Given the description of an element on the screen output the (x, y) to click on. 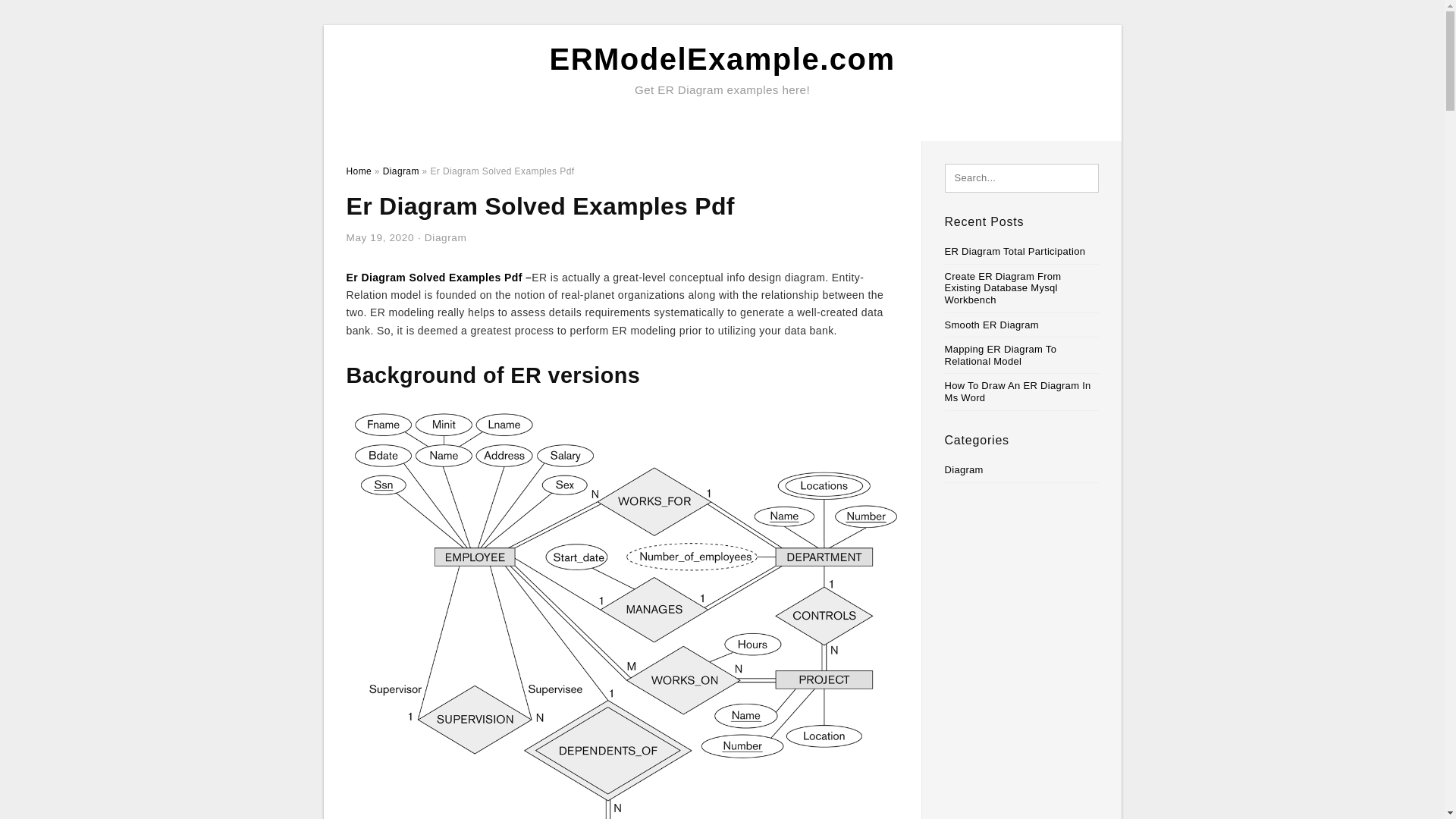
How To Draw An ER Diagram In Ms Word (1017, 391)
ER Diagram Total Participation (1015, 251)
Mapping ER Diagram To Relational Model (1000, 354)
Create ER Diagram From Existing Database Mysql Workbench (1002, 288)
Search (43, 15)
Diagram (964, 469)
Smooth ER Diagram (991, 324)
Diagram (400, 171)
ERModelExample.com (721, 59)
